Given the description of an element on the screen output the (x, y) to click on. 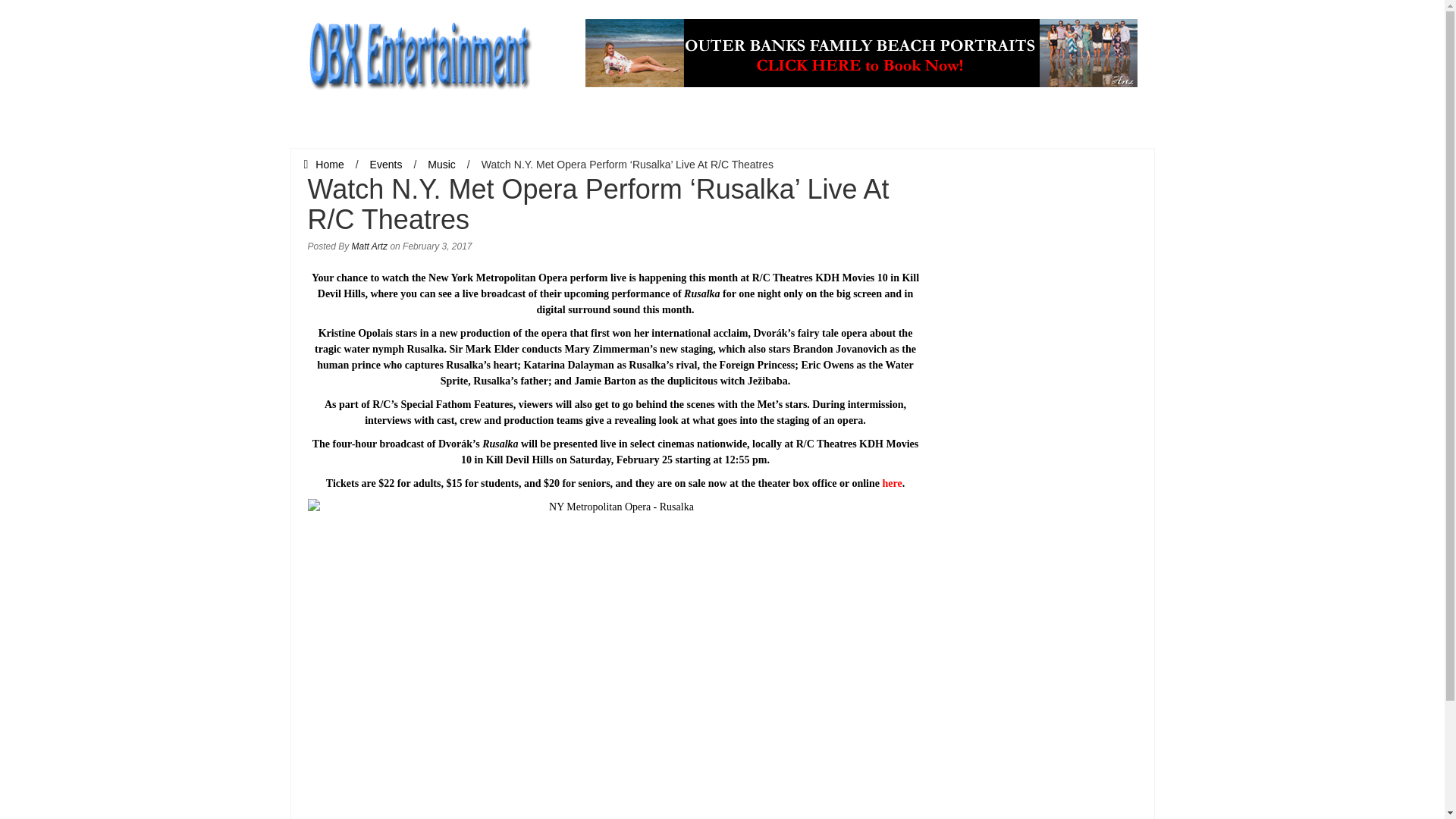
Posts by Matt Artz (370, 245)
here (892, 482)
OBX Entertainment (418, 51)
Matt Artz (370, 245)
Events (386, 164)
Music (441, 164)
Home (322, 164)
